Given the description of an element on the screen output the (x, y) to click on. 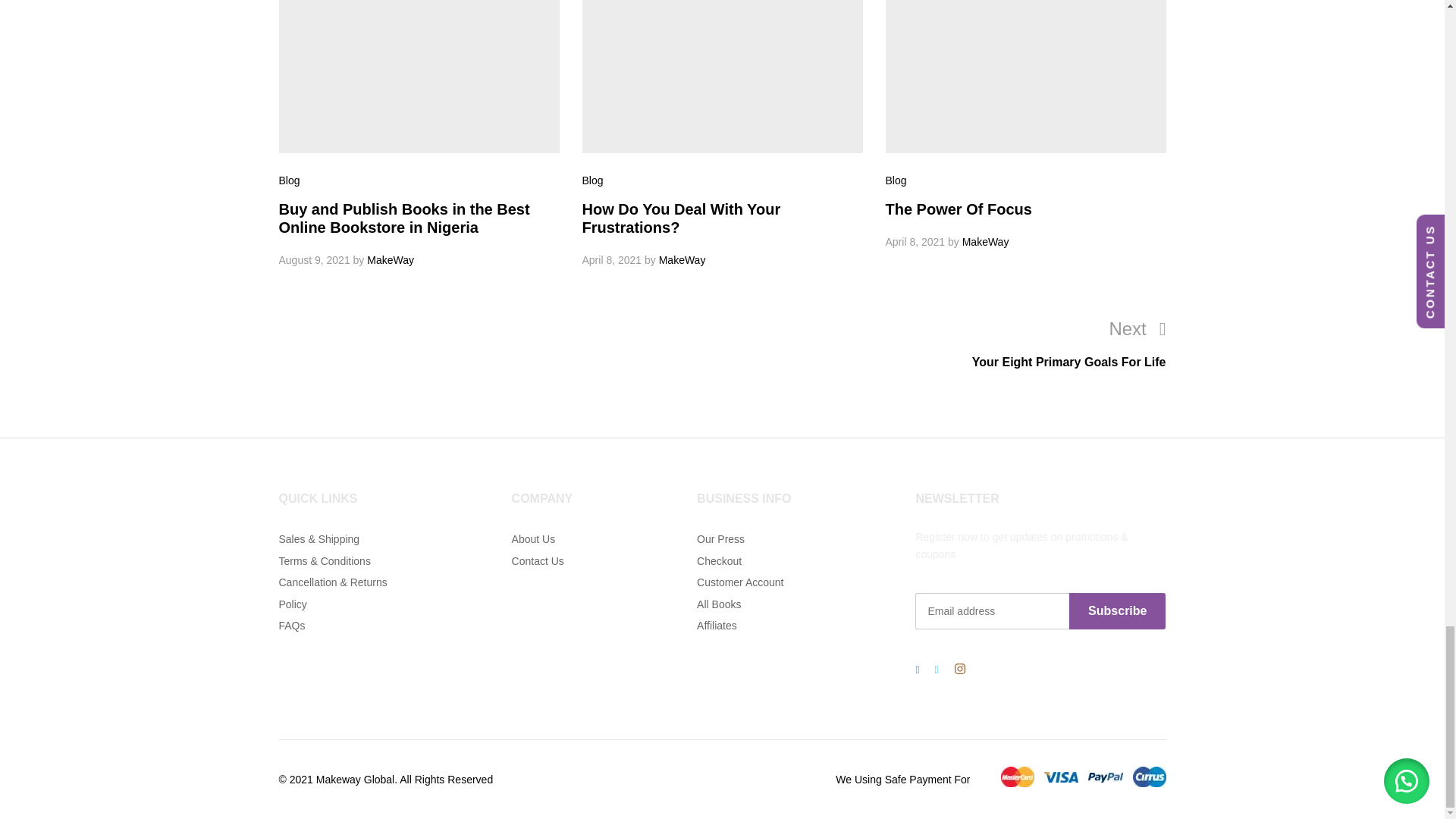
Subscribe (1117, 610)
Twitter (936, 669)
Instagram (960, 669)
Facebook (916, 669)
